Given the description of an element on the screen output the (x, y) to click on. 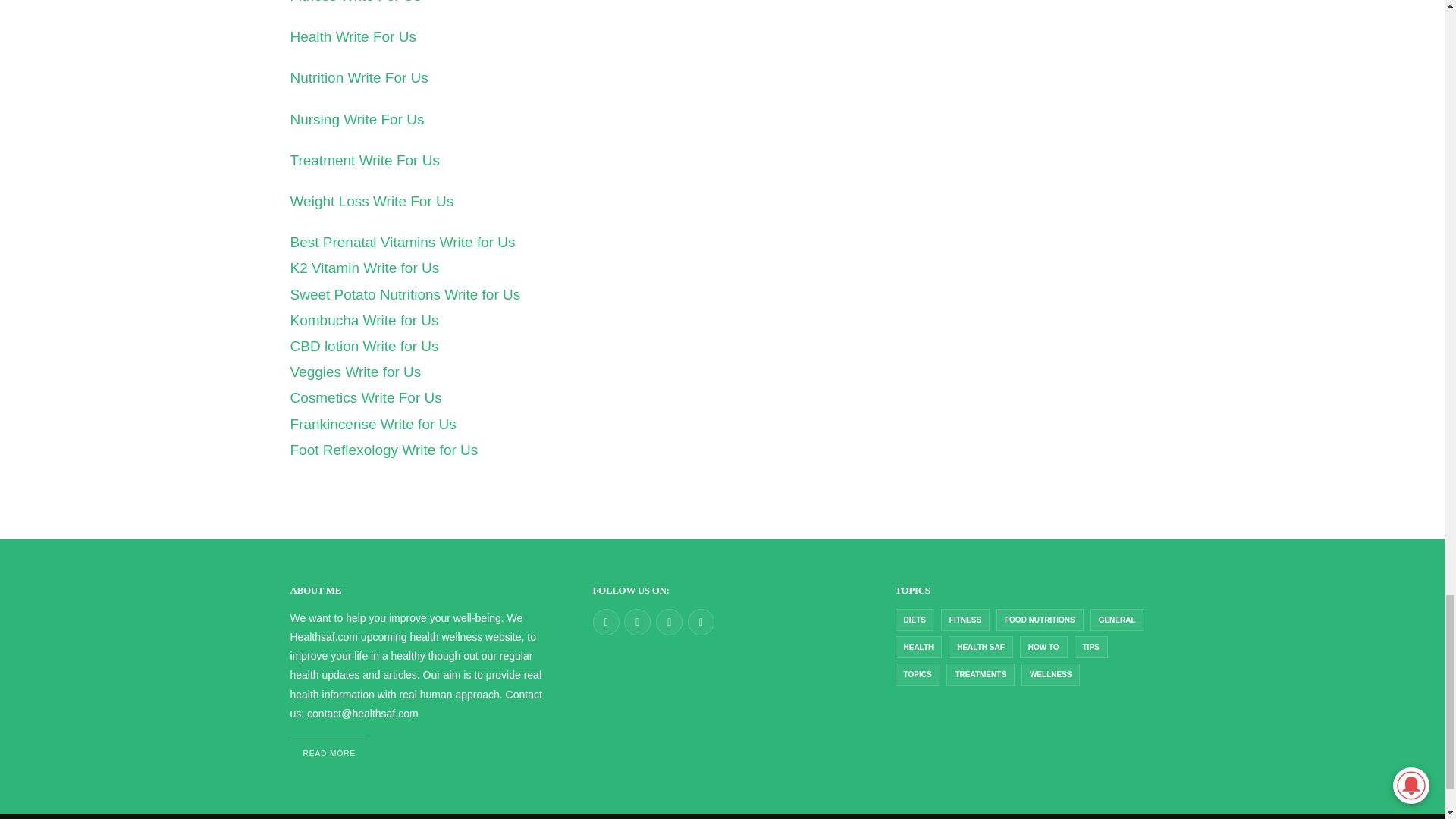
FITNESS (965, 619)
Kombucha Write for Us (363, 320)
Nutrition Write For Us (358, 77)
READ MORE (328, 753)
Fitness Write For Us (354, 2)
K2 Vitamin Write for Us (364, 268)
Sweet Potato Nutritions Write for Us (404, 294)
Best Prenatal Vitamins Write for Us (402, 242)
FOOD NUTRITIONS (1039, 619)
Health Write For Us (351, 36)
Nursing Write For Us (356, 119)
Treatment Write For Us (364, 160)
Cosmetics Write For Us (365, 397)
Weight Loss Write For Us (370, 201)
Veggies Write for Us (354, 371)
